Given the description of an element on the screen output the (x, y) to click on. 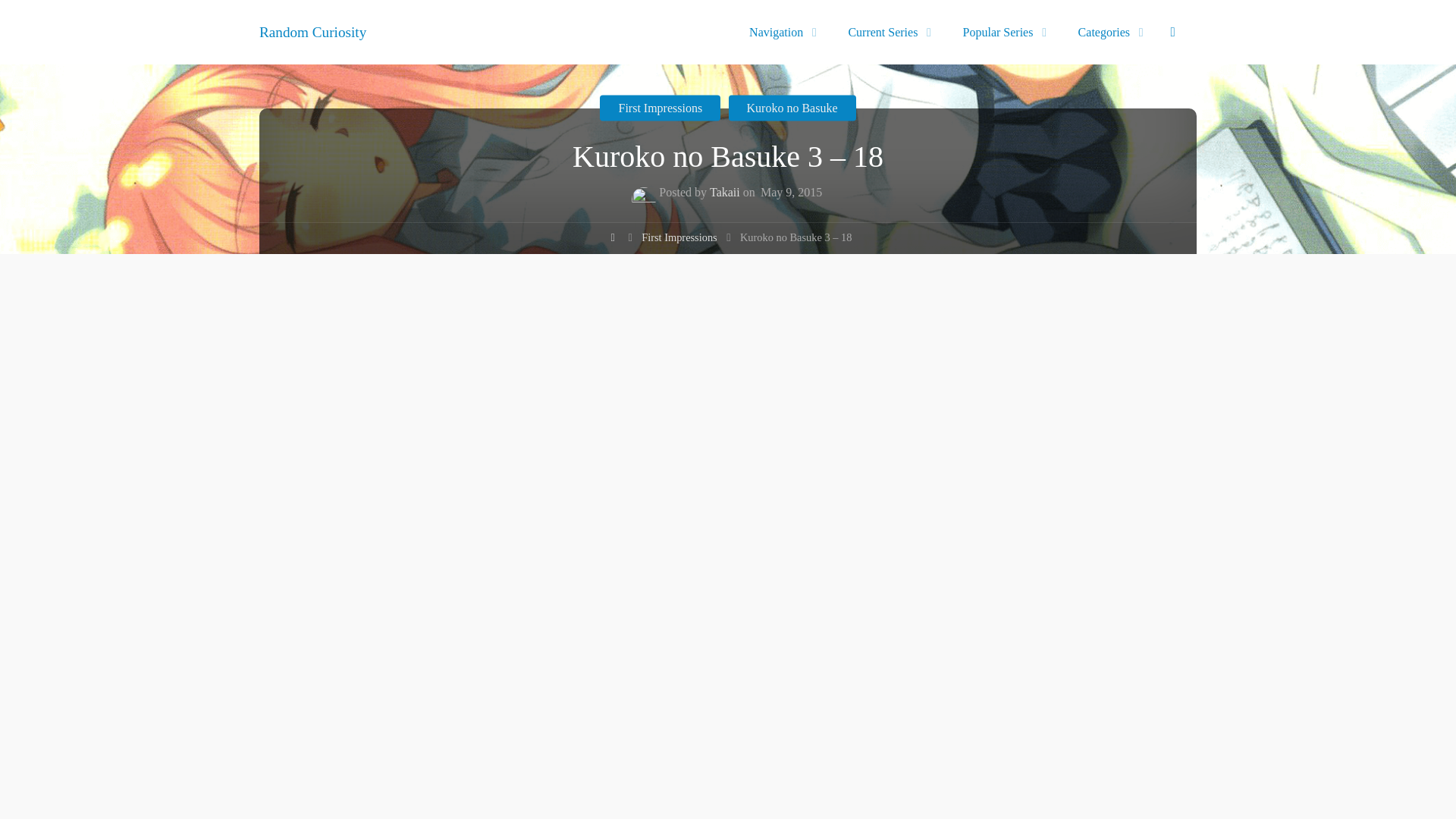
Navigation (778, 32)
View all posts by Takaii (724, 194)
Random Curiosity (312, 31)
Daily Anime Goodness (312, 31)
Current Series (885, 32)
Home (612, 239)
